Given the description of an element on the screen output the (x, y) to click on. 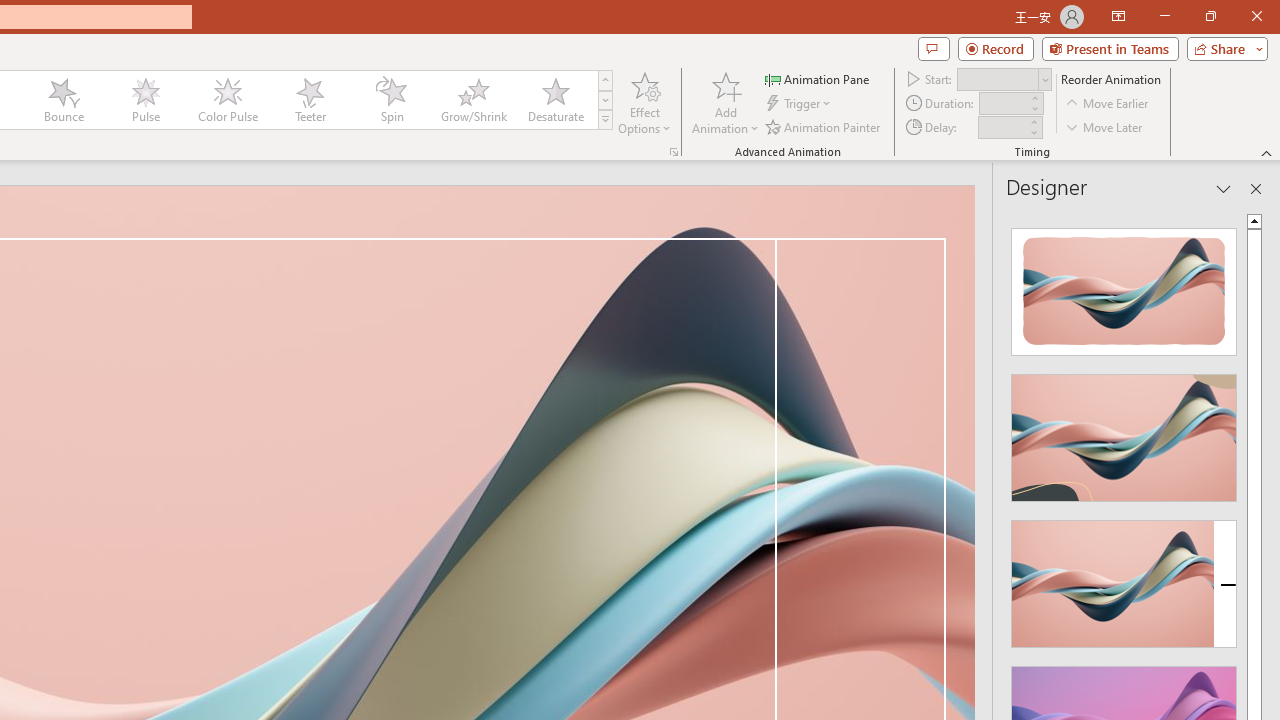
Trigger (799, 103)
Move Earlier (1107, 103)
